Given the description of an element on the screen output the (x, y) to click on. 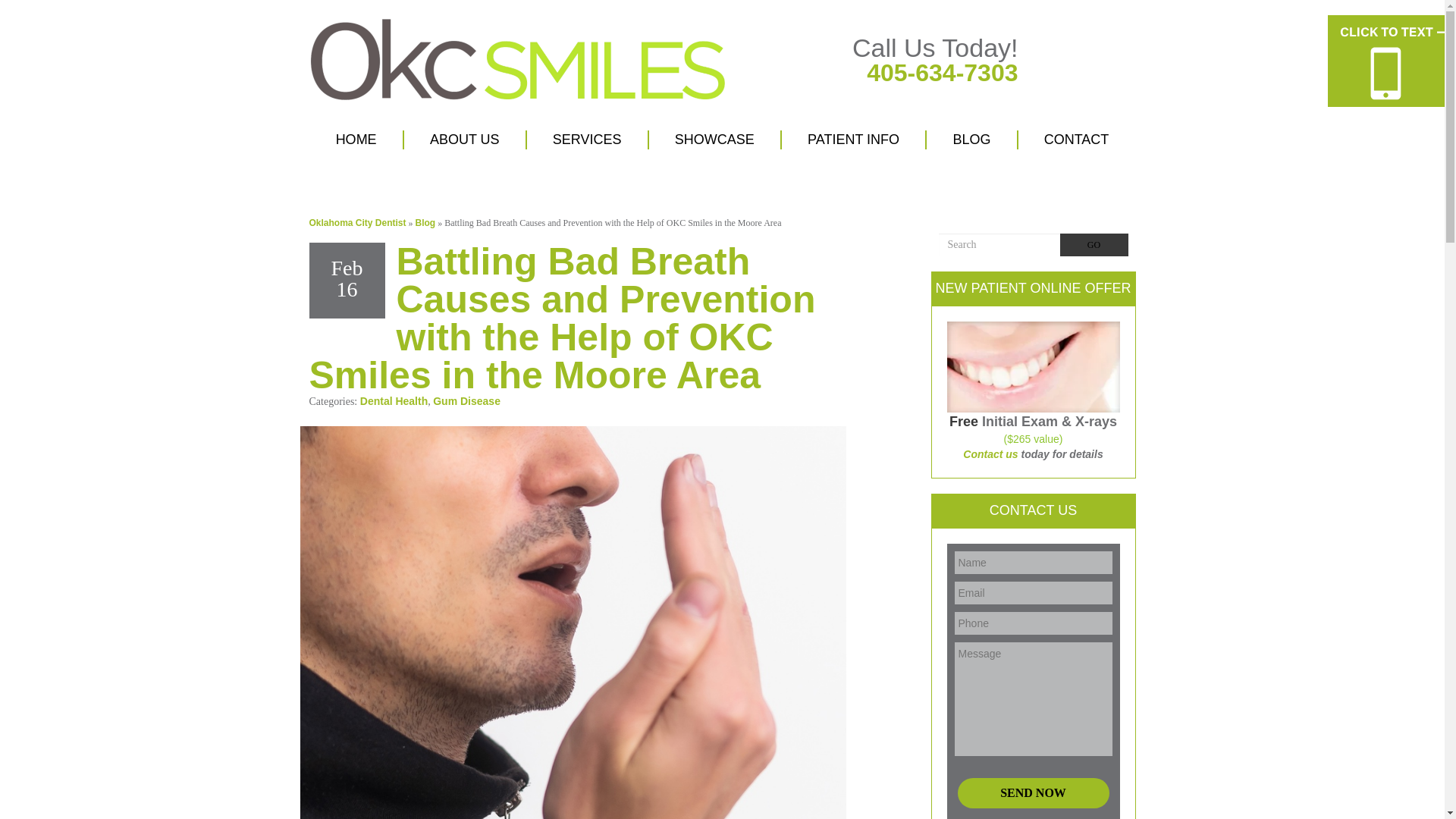
HOME (355, 139)
Send Now (1032, 793)
405-634-7303 (941, 72)
SERVICES (586, 139)
ABOUT US (464, 139)
Search for: (1000, 244)
